Given the description of an element on the screen output the (x, y) to click on. 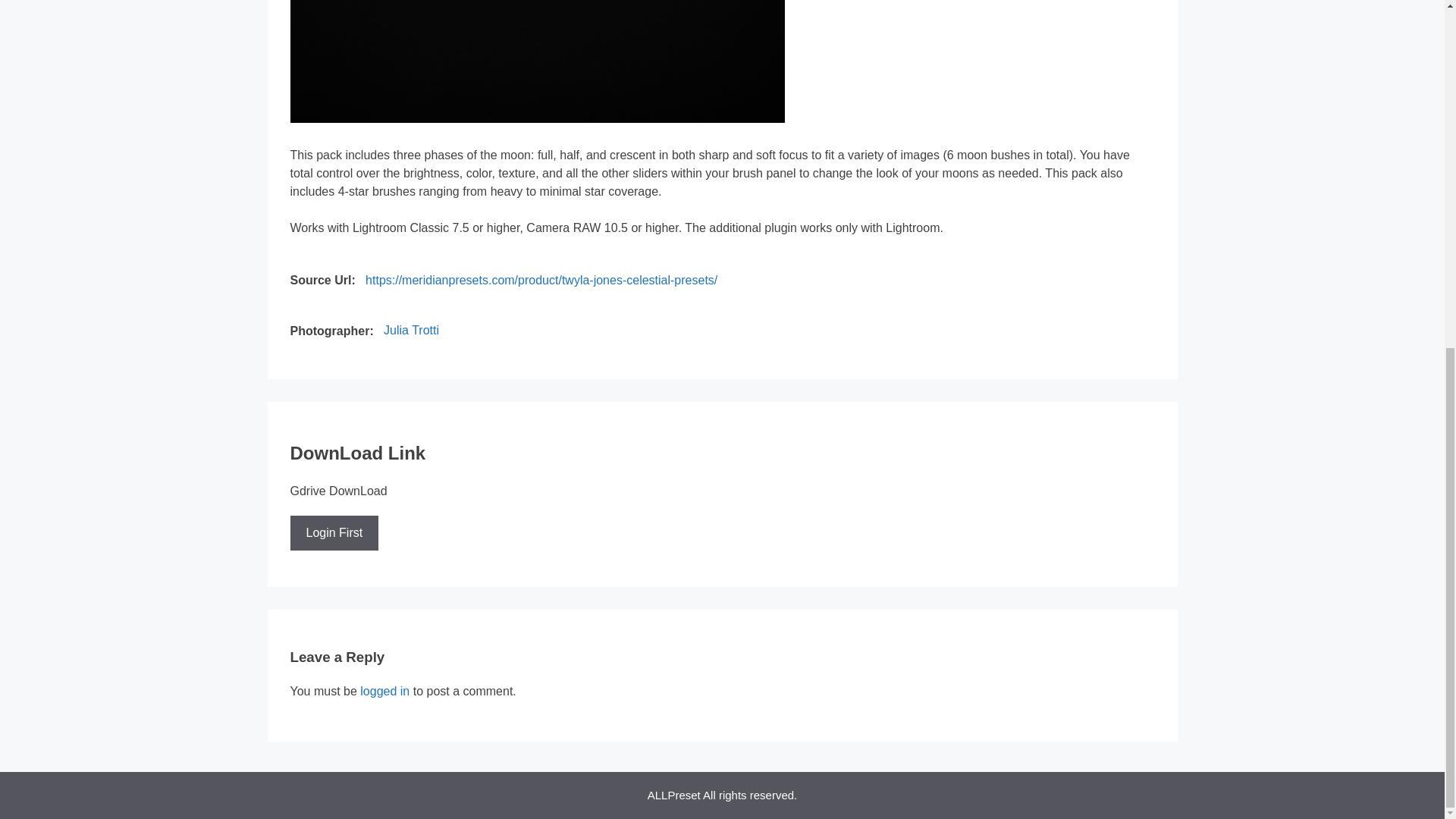
Login First (333, 532)
ALLPreset (673, 795)
Members Login (333, 532)
Julia Trotti (411, 330)
Login First (333, 532)
logged in (384, 690)
